Given the description of an element on the screen output the (x, y) to click on. 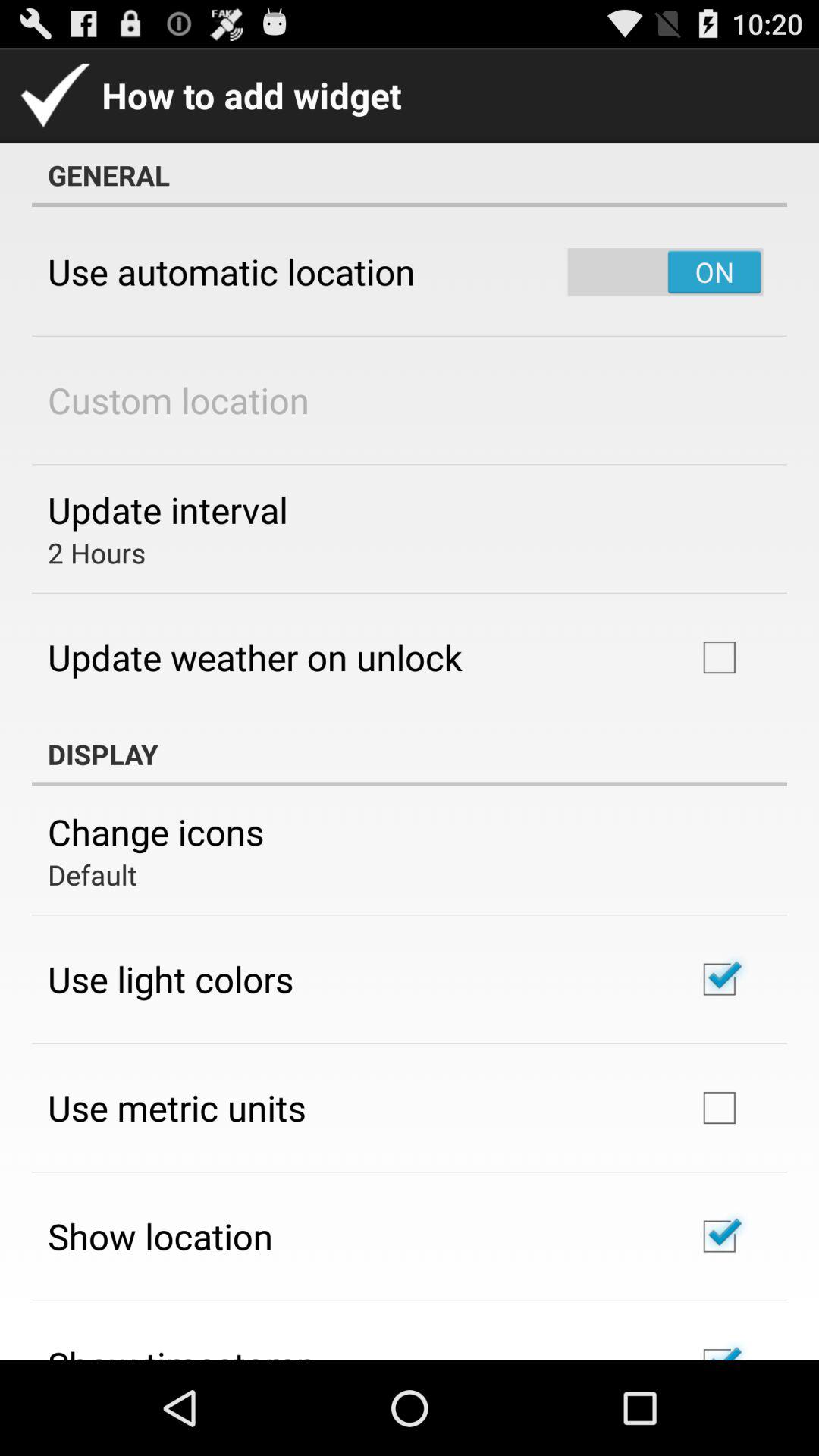
turn on 2 hours item (96, 552)
